Given the description of an element on the screen output the (x, y) to click on. 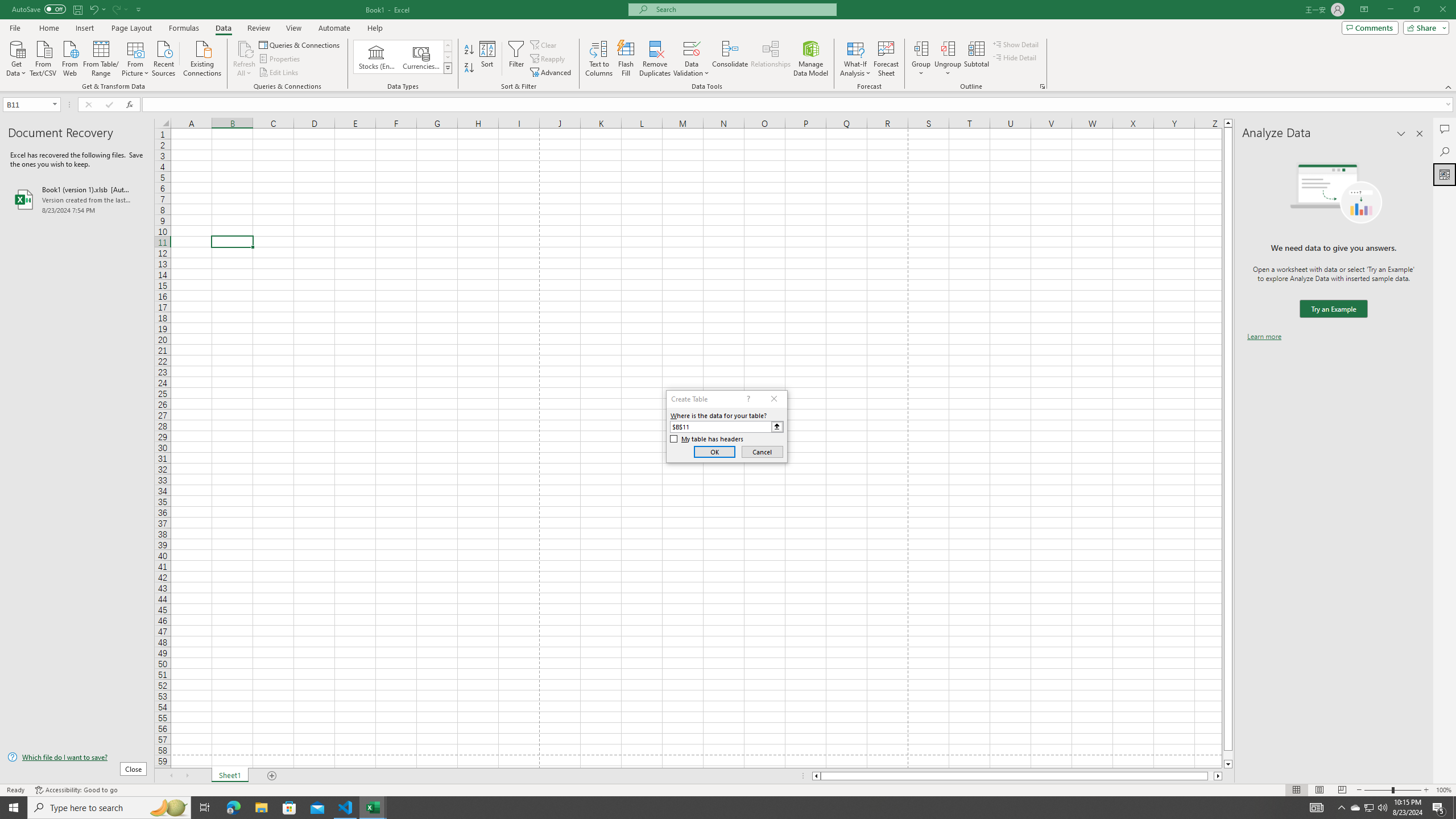
Comments (1369, 27)
Clear (544, 44)
Relationships (770, 58)
Zoom In (1426, 790)
Comments (1444, 128)
Restore Down (1416, 9)
From Table/Range (100, 57)
Class: NetUIScrollBar (1016, 775)
AutomationID: ConvertToLinkedEntity (403, 56)
AutoSave (38, 9)
Normal (1296, 790)
Page right (1211, 775)
Hide Detail (1014, 56)
Data Validation... (691, 48)
